Given the description of an element on the screen output the (x, y) to click on. 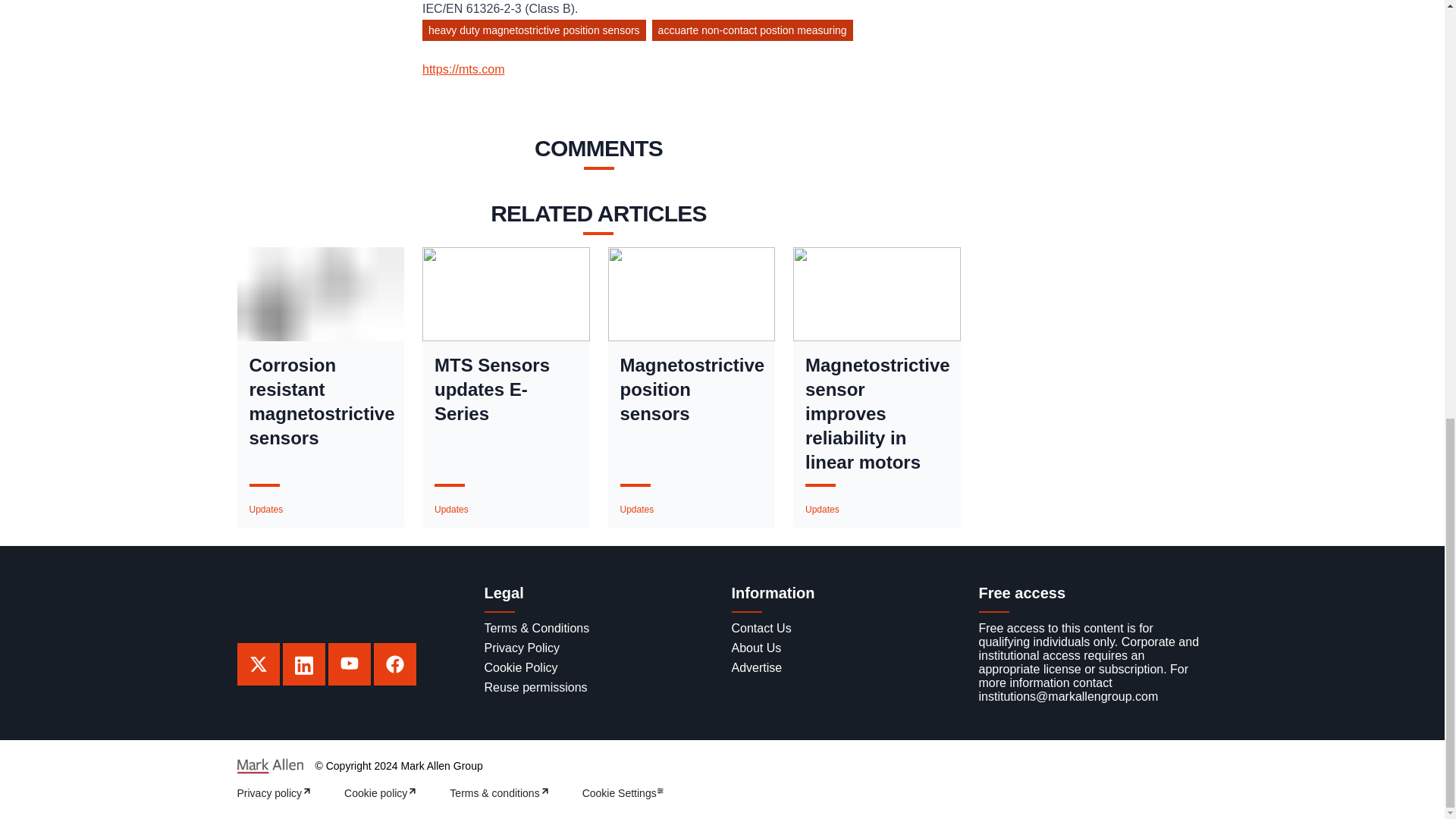
Updates (636, 509)
Corrosion resistant magnetostrictive sensors (319, 401)
MTS Sensors updates E-Series (505, 388)
heavy duty magnetostrictive position sensors (537, 32)
Updates (450, 509)
Updates (265, 509)
accuarte non-contact postion measuring (755, 32)
Magnetostrictive position sensors (691, 388)
Updates (822, 509)
